Given the description of an element on the screen output the (x, y) to click on. 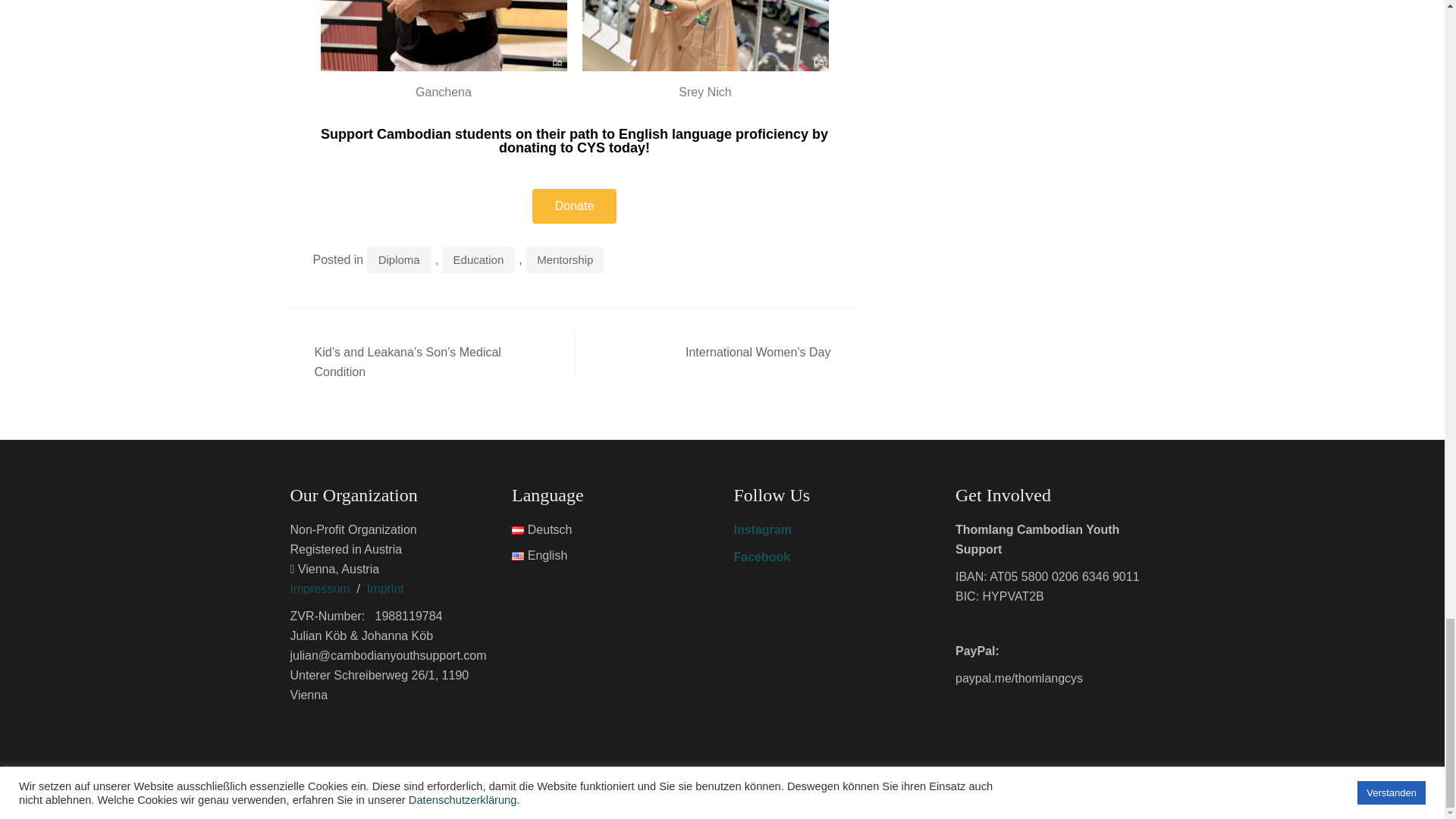
Donate (574, 206)
Mentorship (564, 259)
Diploma (398, 259)
Education (478, 259)
